Given the description of an element on the screen output the (x, y) to click on. 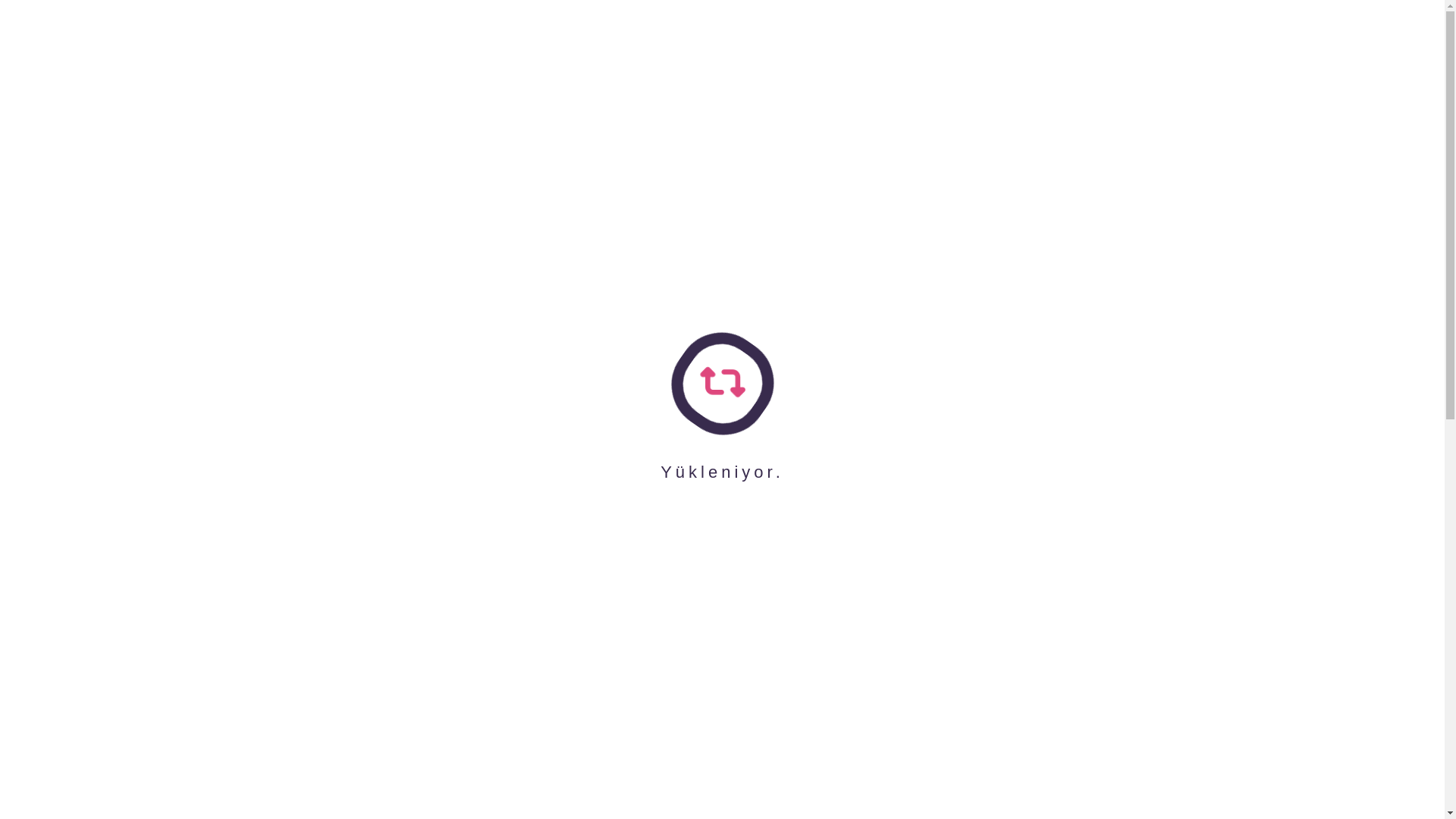
Telegram Element type: text (558, 36)
Twitter Element type: text (639, 36)
Instagram Element type: text (721, 36)
